Given the description of an element on the screen output the (x, y) to click on. 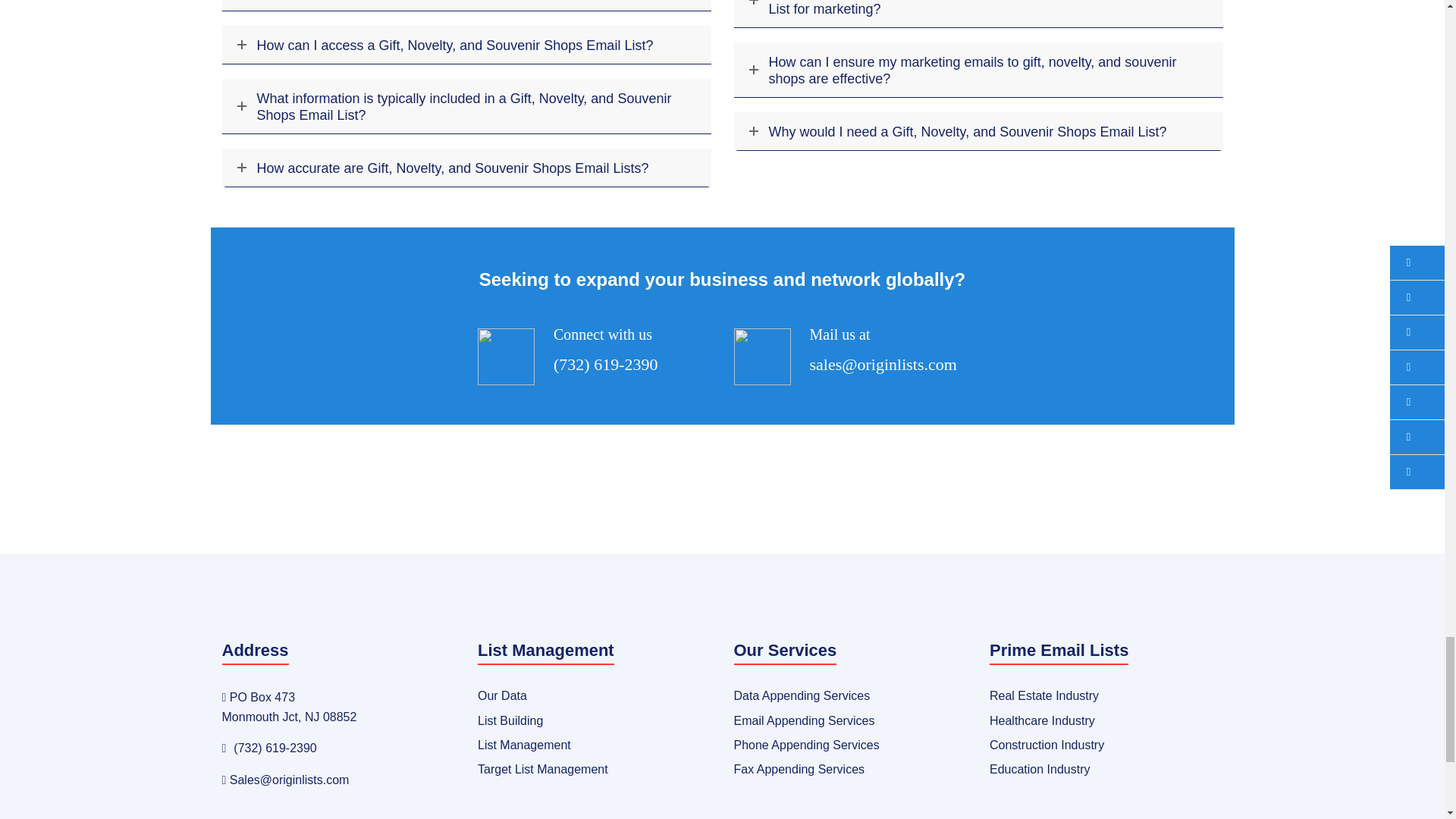
Call - Gif (505, 356)
Email Bottom Gif (761, 356)
